Given the description of an element on the screen output the (x, y) to click on. 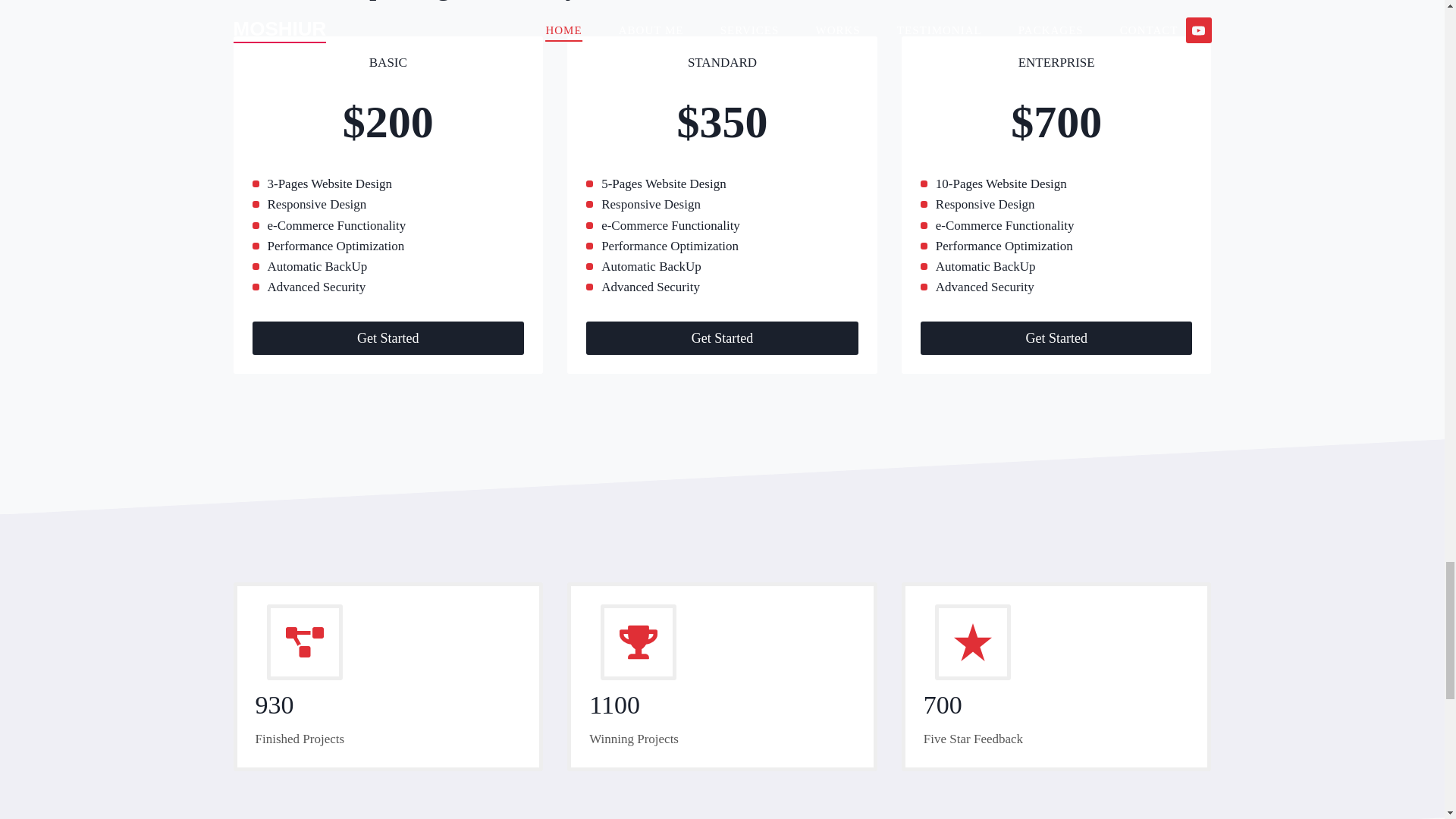
Get Started (387, 337)
Get Started (1056, 337)
Get Started (722, 337)
